Given the description of an element on the screen output the (x, y) to click on. 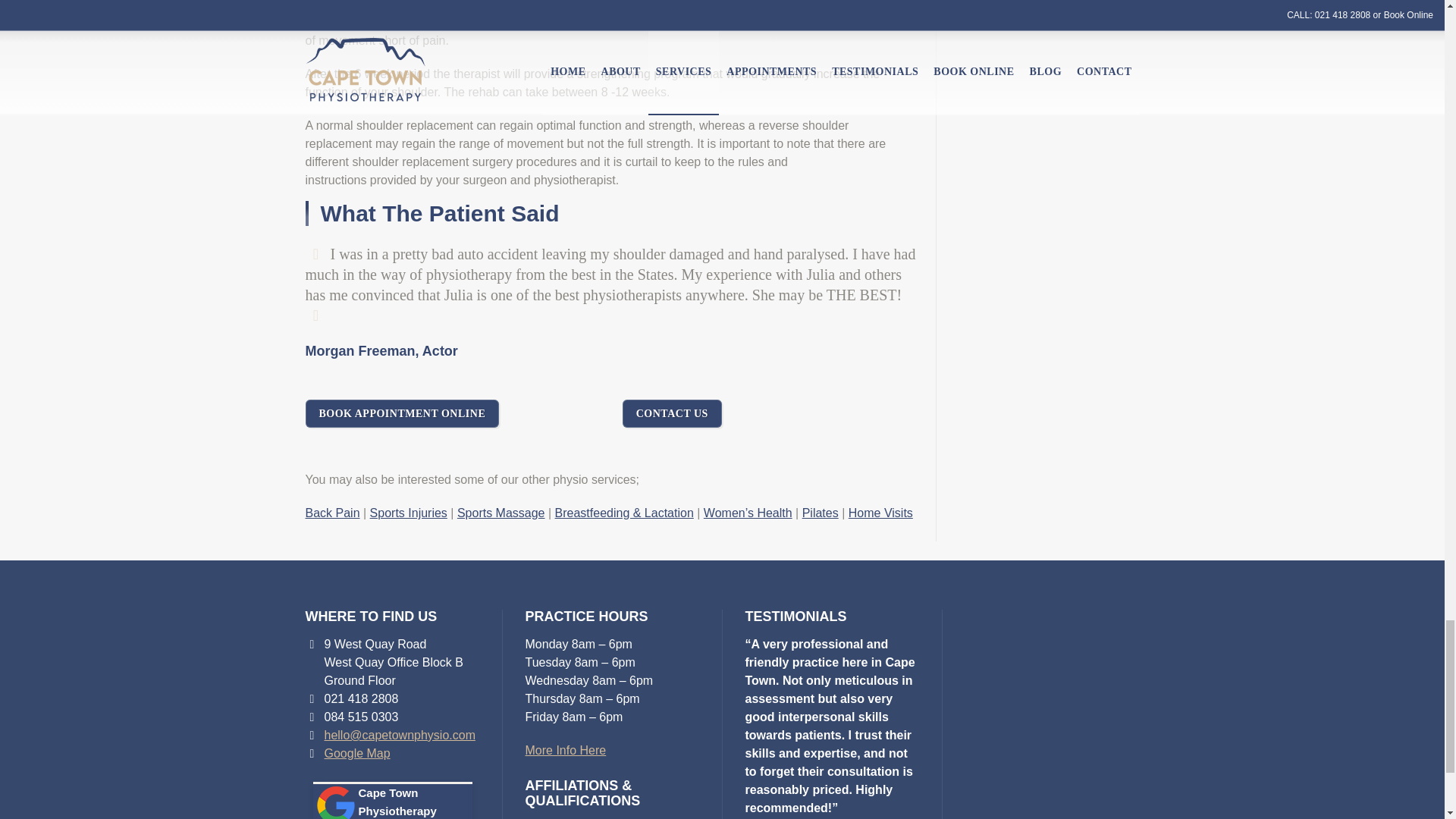
Sports Massage (500, 512)
Home Visits (880, 512)
More Info Here (564, 749)
BOOK APPOINTMENT ONLINE (401, 413)
Google Map (357, 753)
CONTACT US (672, 413)
BOOK APPOINTMENT ONLINE (401, 413)
Sports Injuries (407, 512)
CONTACT US (672, 413)
Google Map (357, 753)
